Given the description of an element on the screen output the (x, y) to click on. 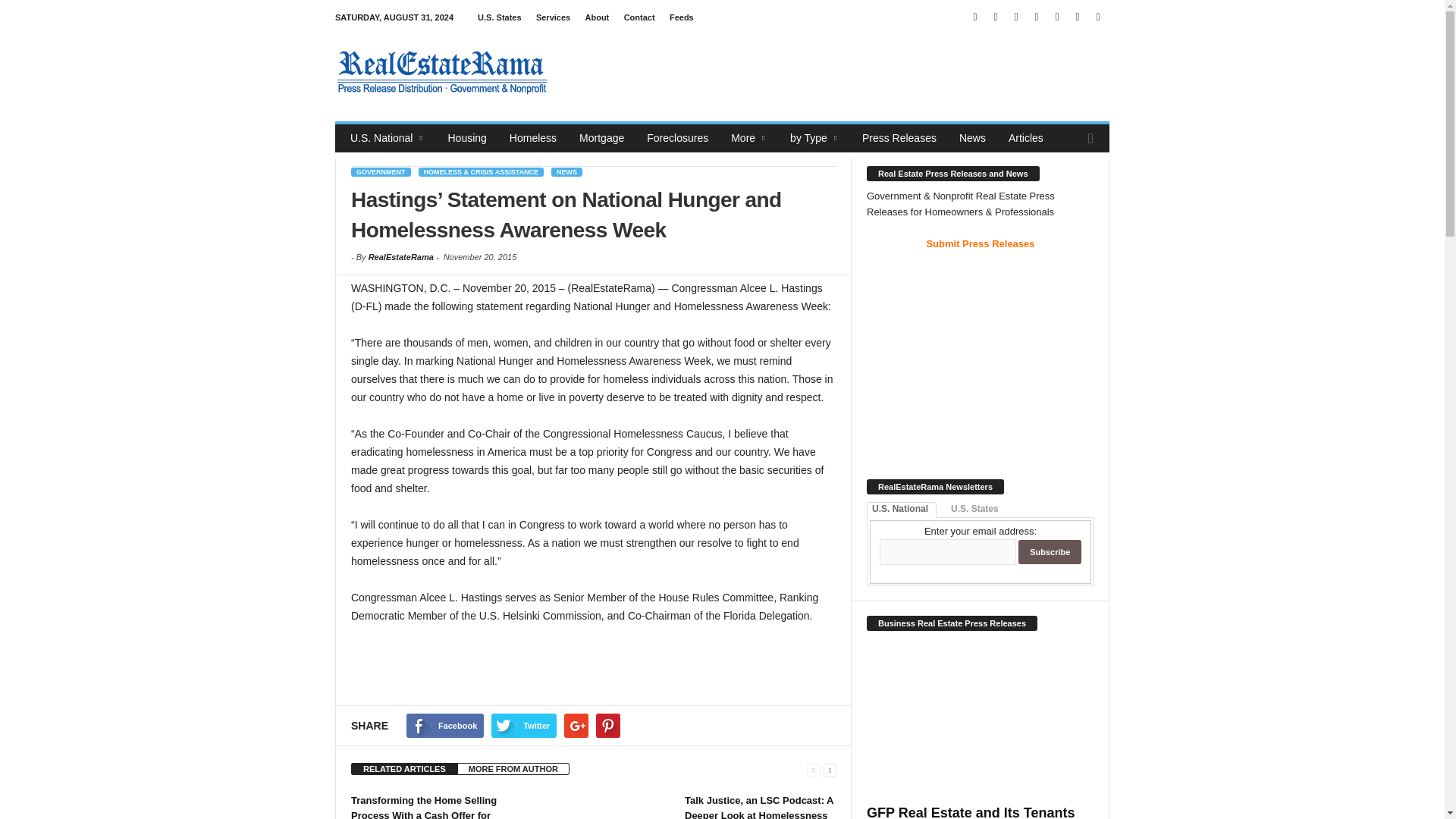
Mail (1016, 17)
Linkedin (995, 17)
Twitter (1077, 17)
Youtube (1097, 17)
Subscribe (1049, 551)
Facebook (975, 17)
RSS (1056, 17)
Pinterest (1036, 17)
